Given the description of an element on the screen output the (x, y) to click on. 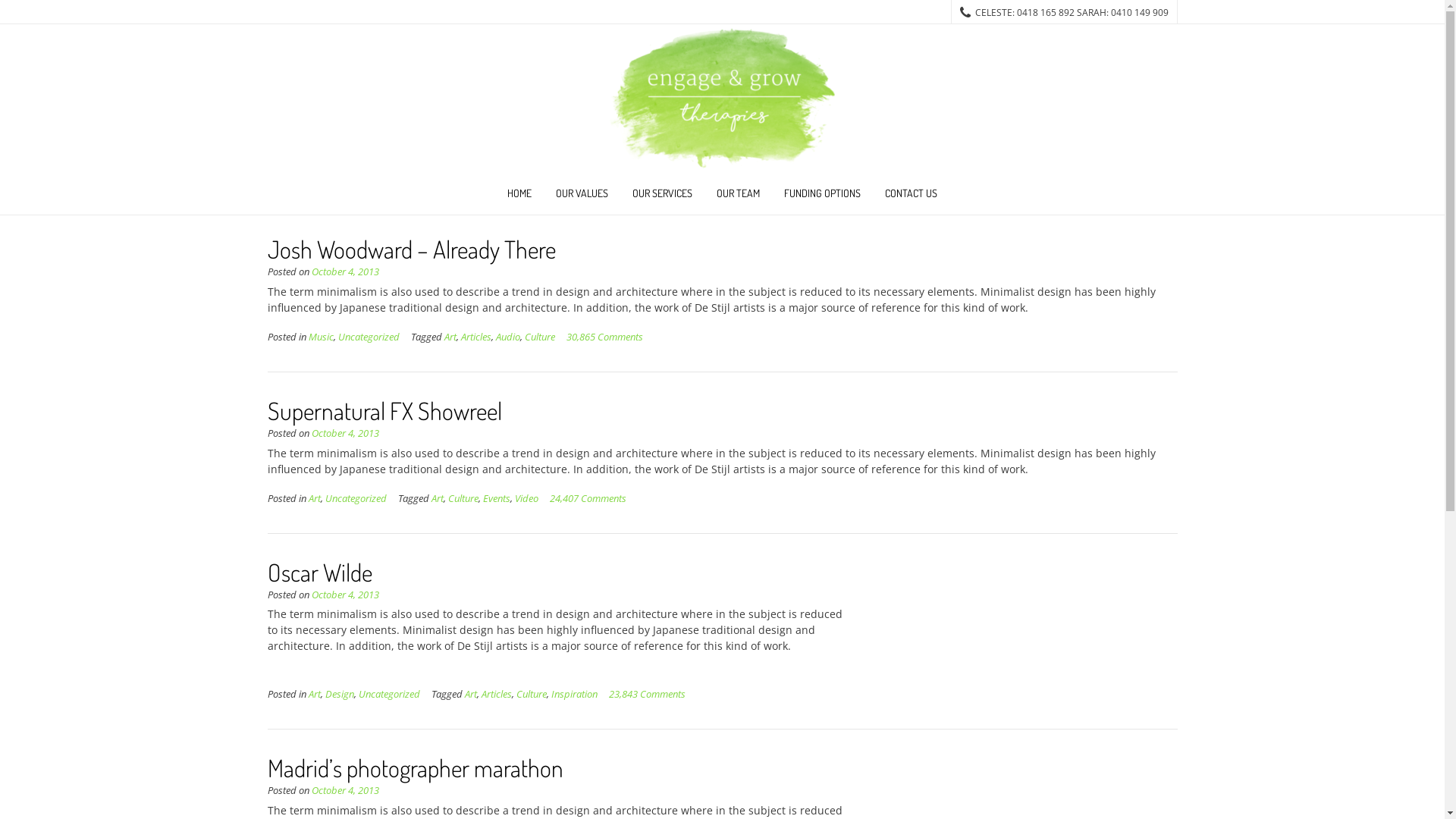
Audio Element type: text (507, 336)
Supernatural FX Showreel Element type: text (383, 410)
CONTACT US Element type: text (910, 194)
Design Element type: text (338, 693)
Culture Element type: text (462, 498)
FUNDING OPTIONS Element type: text (821, 194)
Art Element type: text (470, 693)
Art Element type: text (313, 693)
OUR TEAM Element type: text (737, 194)
Art Element type: text (313, 498)
Events Element type: text (495, 498)
October 4, 2013 Element type: text (344, 271)
OUR SERVICES Element type: text (662, 194)
October 4, 2013 Element type: text (344, 594)
Music Element type: text (319, 336)
Art Element type: text (436, 498)
OUR VALUES Element type: text (581, 194)
Articles Element type: text (476, 336)
Articles Element type: text (495, 693)
Culture Element type: text (530, 693)
Uncategorized Element type: text (354, 498)
October 4, 2013 Element type: text (344, 790)
Art Element type: text (450, 336)
Uncategorized Element type: text (368, 336)
23,843 Comments Element type: text (646, 693)
October 4, 2013 Element type: text (344, 432)
24,407 Comments Element type: text (587, 498)
Video Element type: text (525, 498)
Culture Element type: text (539, 336)
30,865 Comments Element type: text (603, 336)
Inspiration Element type: text (573, 693)
Uncategorized Element type: text (388, 693)
HOME Element type: text (519, 194)
Oscar Wilde Element type: text (318, 571)
